Given the description of an element on the screen output the (x, y) to click on. 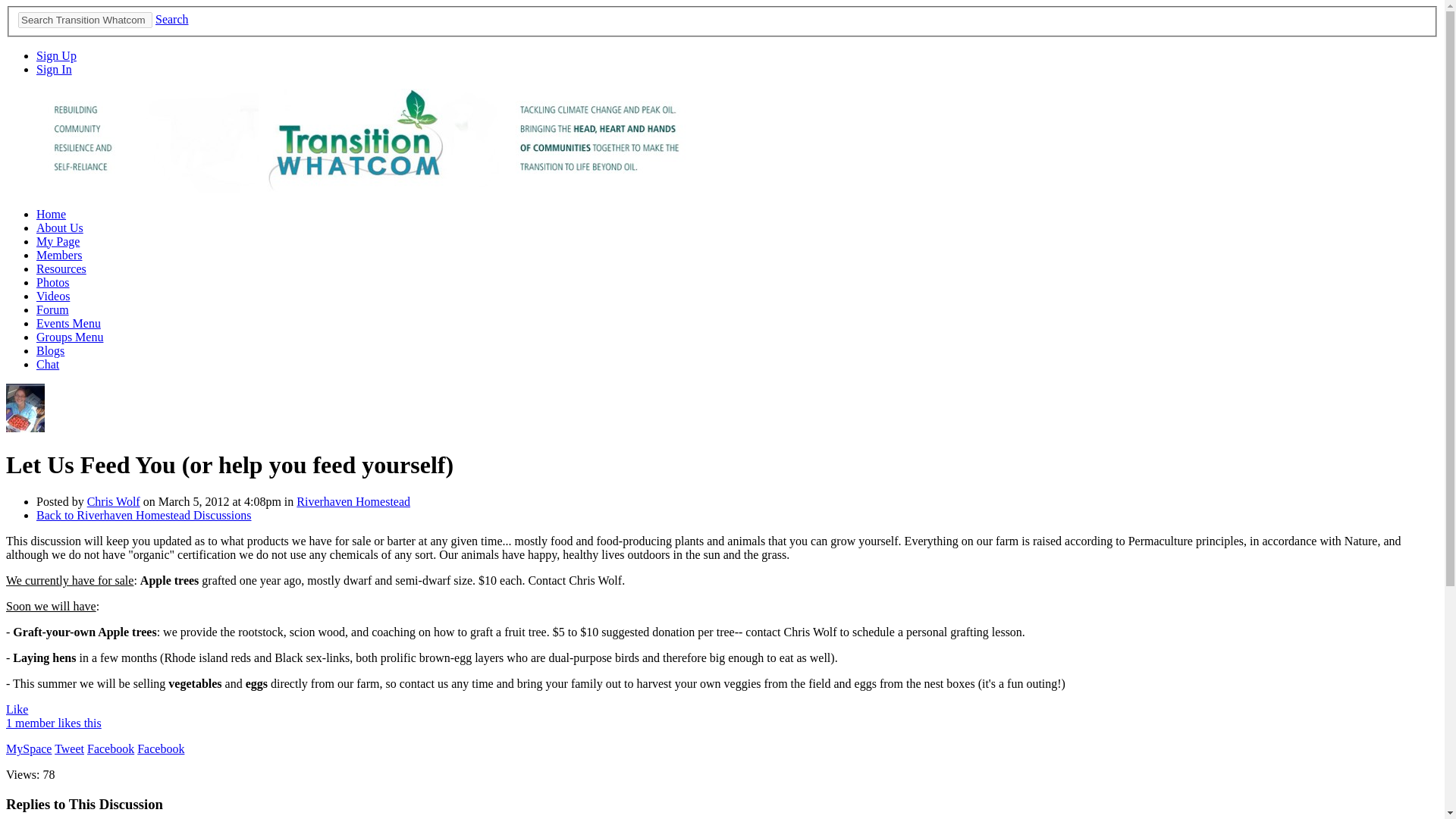
Search (172, 19)
Events Menu (68, 323)
Sign In (53, 69)
Search Transition Whatcom (84, 19)
Videos (52, 295)
Photos (52, 282)
Posted by (61, 501)
Home (50, 214)
Search Transition Whatcom (84, 19)
Blogs (50, 350)
Resources (60, 268)
Chris Wolf (25, 427)
Forum (52, 309)
Members (58, 254)
Chat (47, 364)
